Given the description of an element on the screen output the (x, y) to click on. 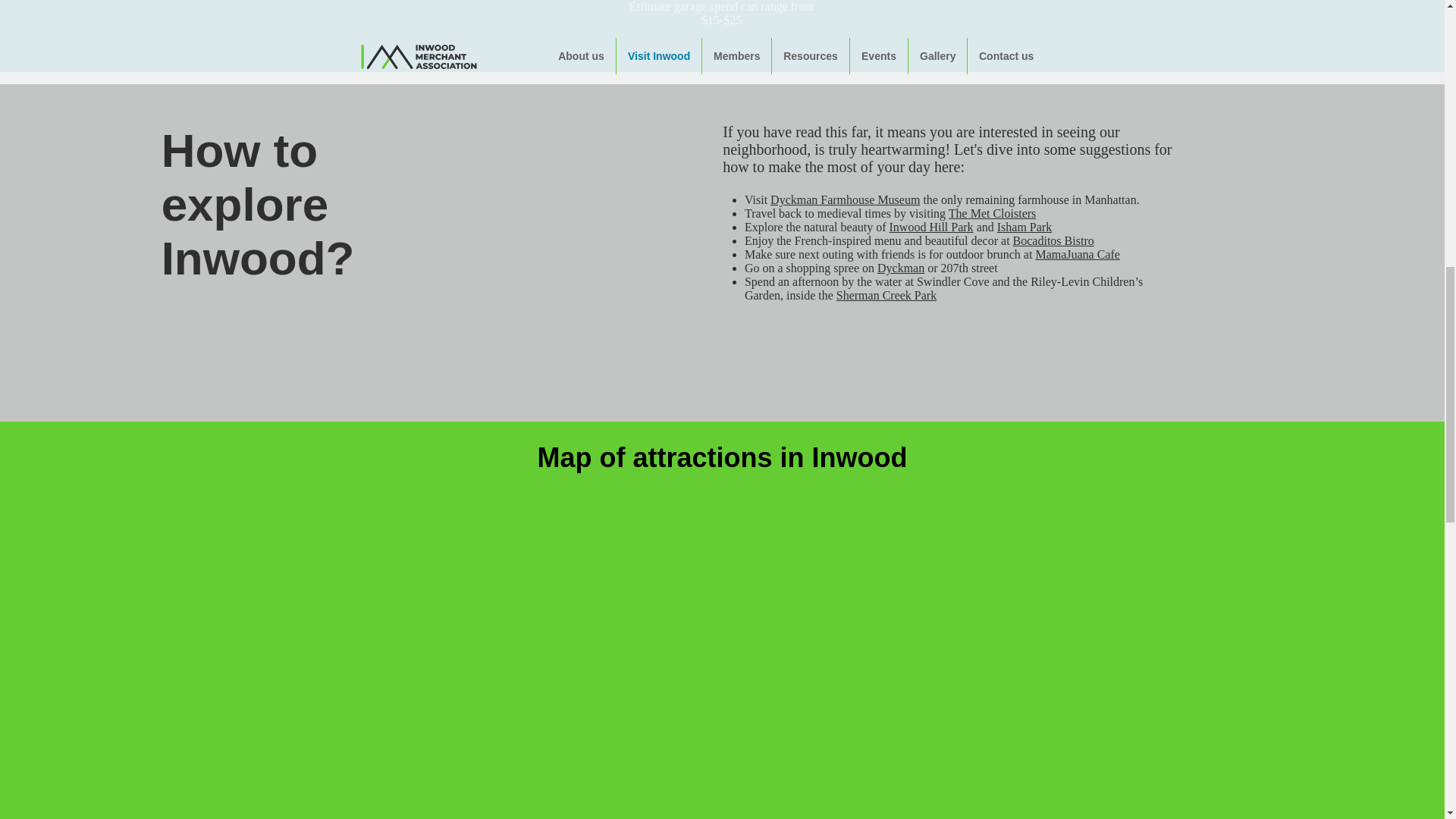
Sherman Creek Park (885, 295)
MamaJuana Cafe (1077, 254)
Dyckman Farmhouse Museum (845, 199)
The Met Cloisters (992, 213)
Inwood Hill Park (931, 226)
Isham Park (1024, 226)
Bocaditos Bistro (1053, 240)
Dyckman (900, 267)
